Given the description of an element on the screen output the (x, y) to click on. 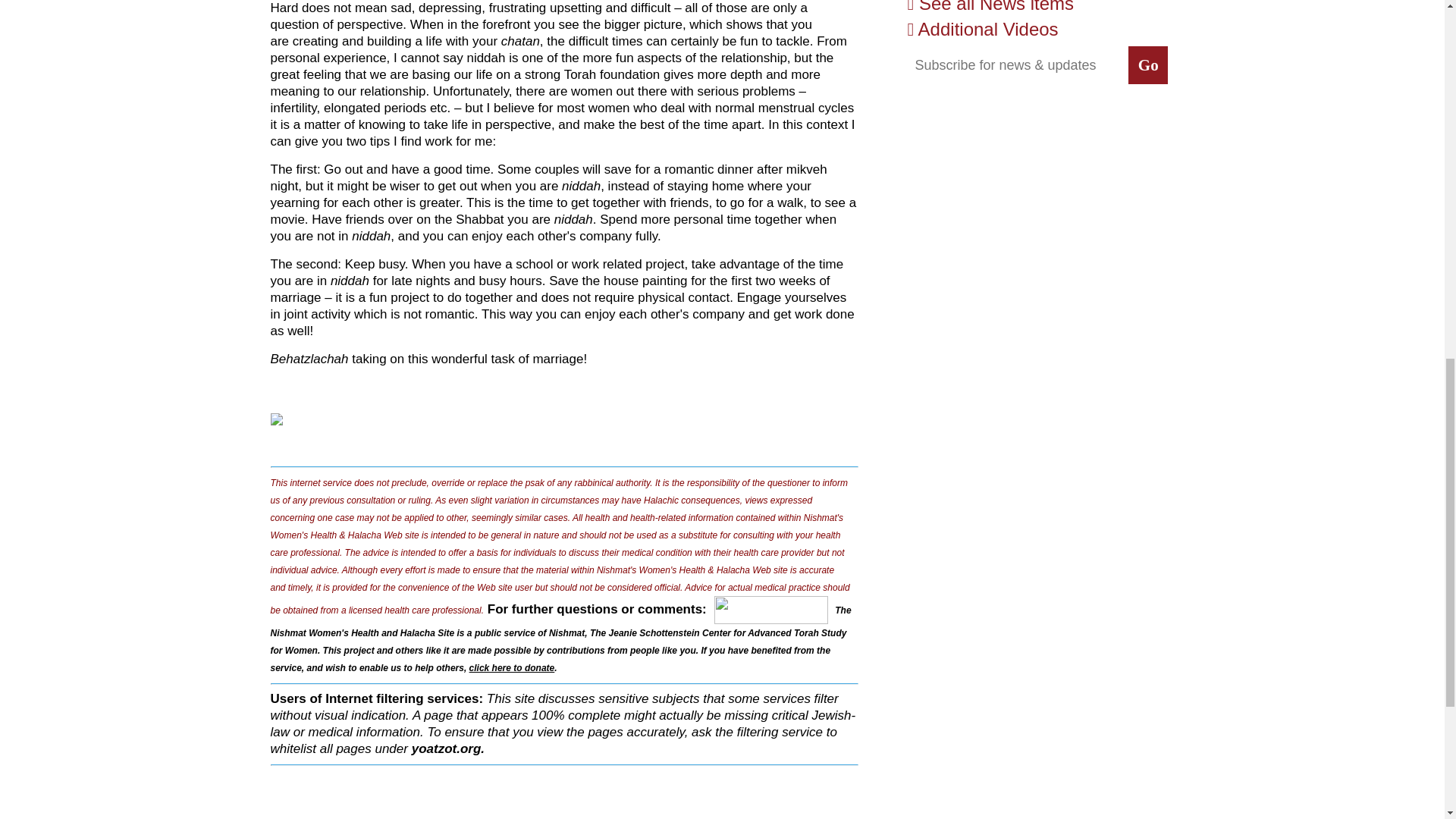
Go (1147, 64)
